Given the description of an element on the screen output the (x, y) to click on. 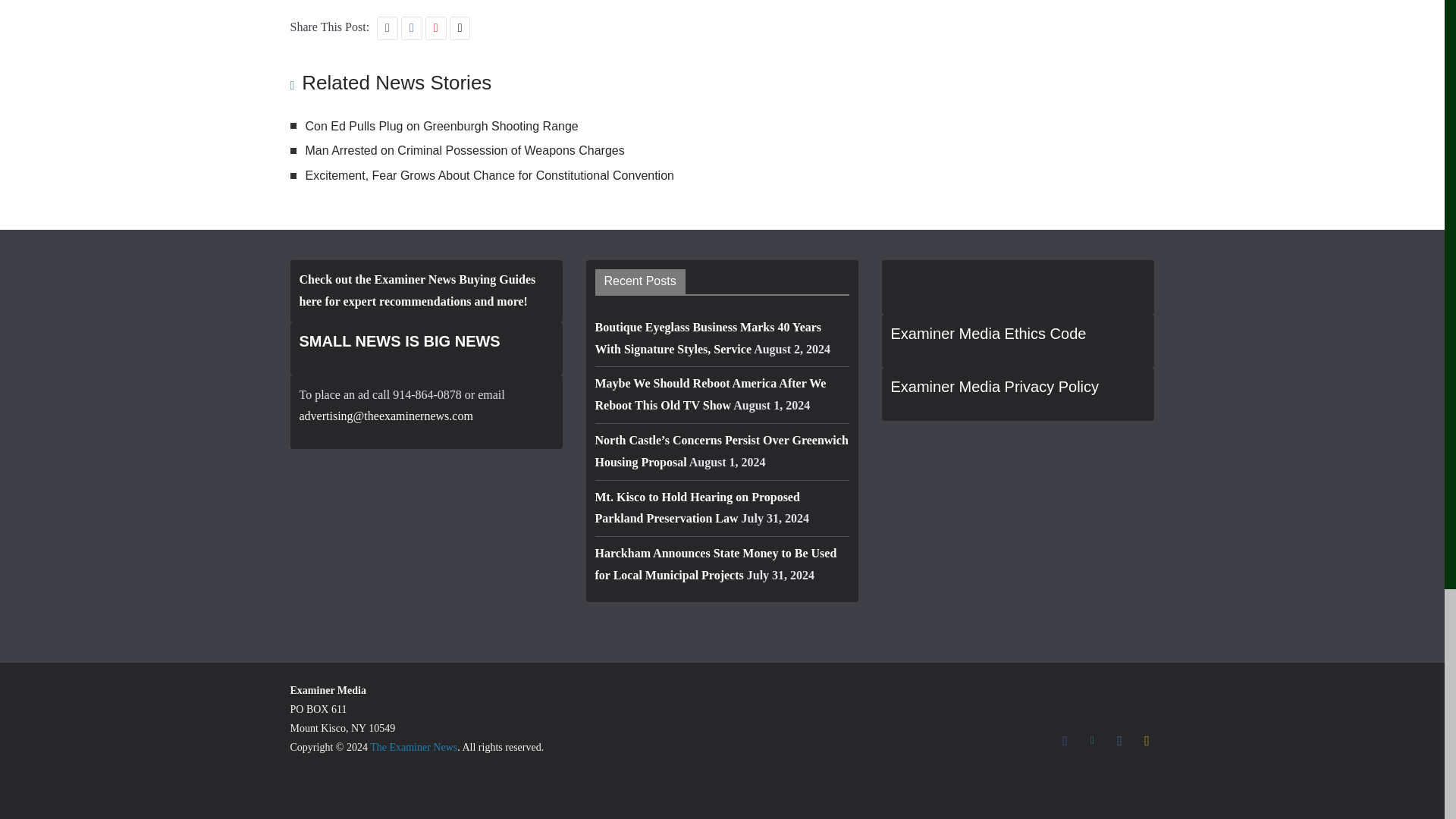
Man Arrested on Criminal Possession of Weapons Charges (464, 150)
Con Ed Pulls Plug on Greenburgh Shooting Range (441, 125)
The Examiner News (413, 747)
